Given the description of an element on the screen output the (x, y) to click on. 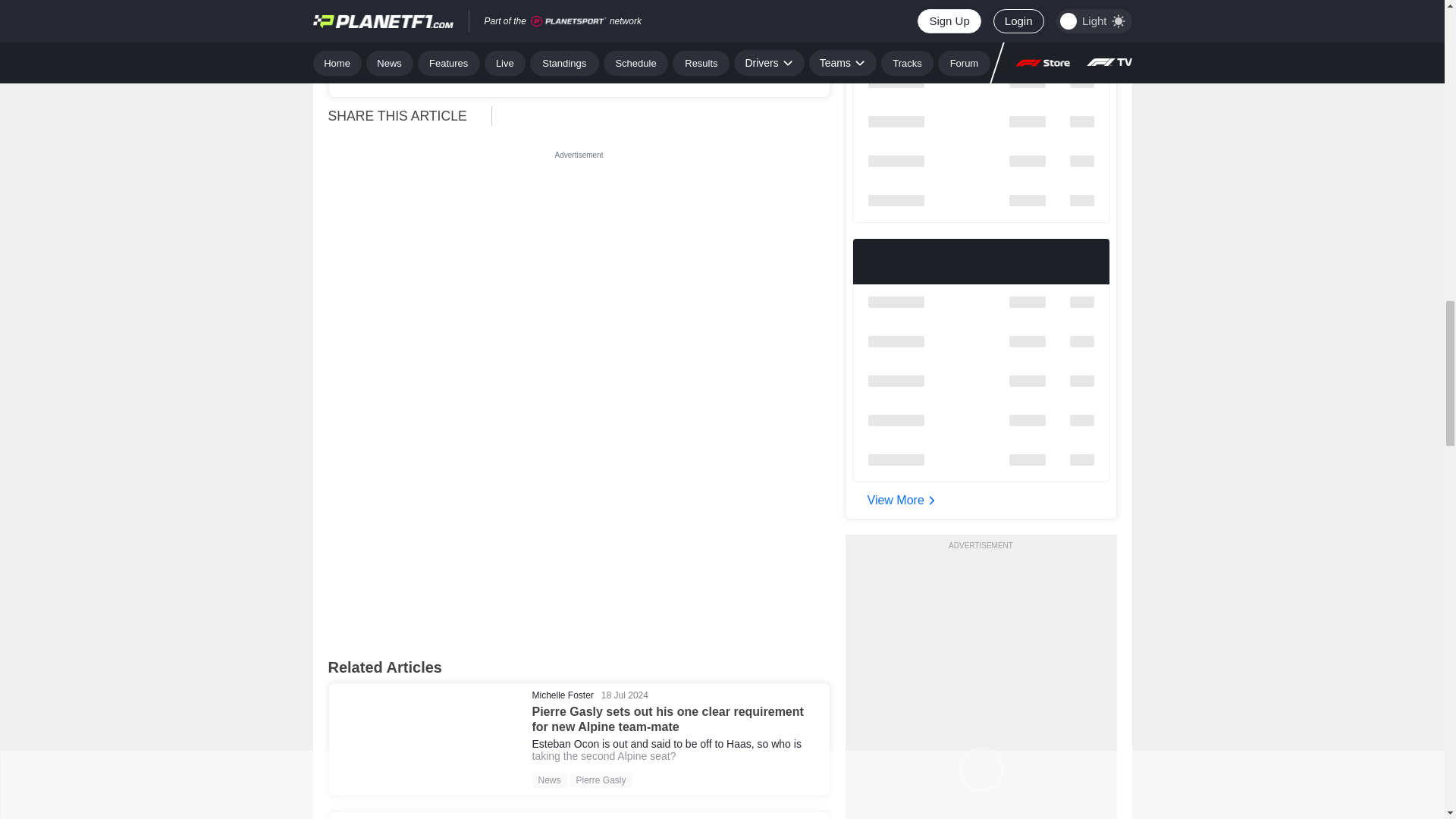
Vuukle Sharebar Widget (666, 114)
Vuukle Comments Widget (578, 523)
3rd party ad content (579, 257)
